Given the description of an element on the screen output the (x, y) to click on. 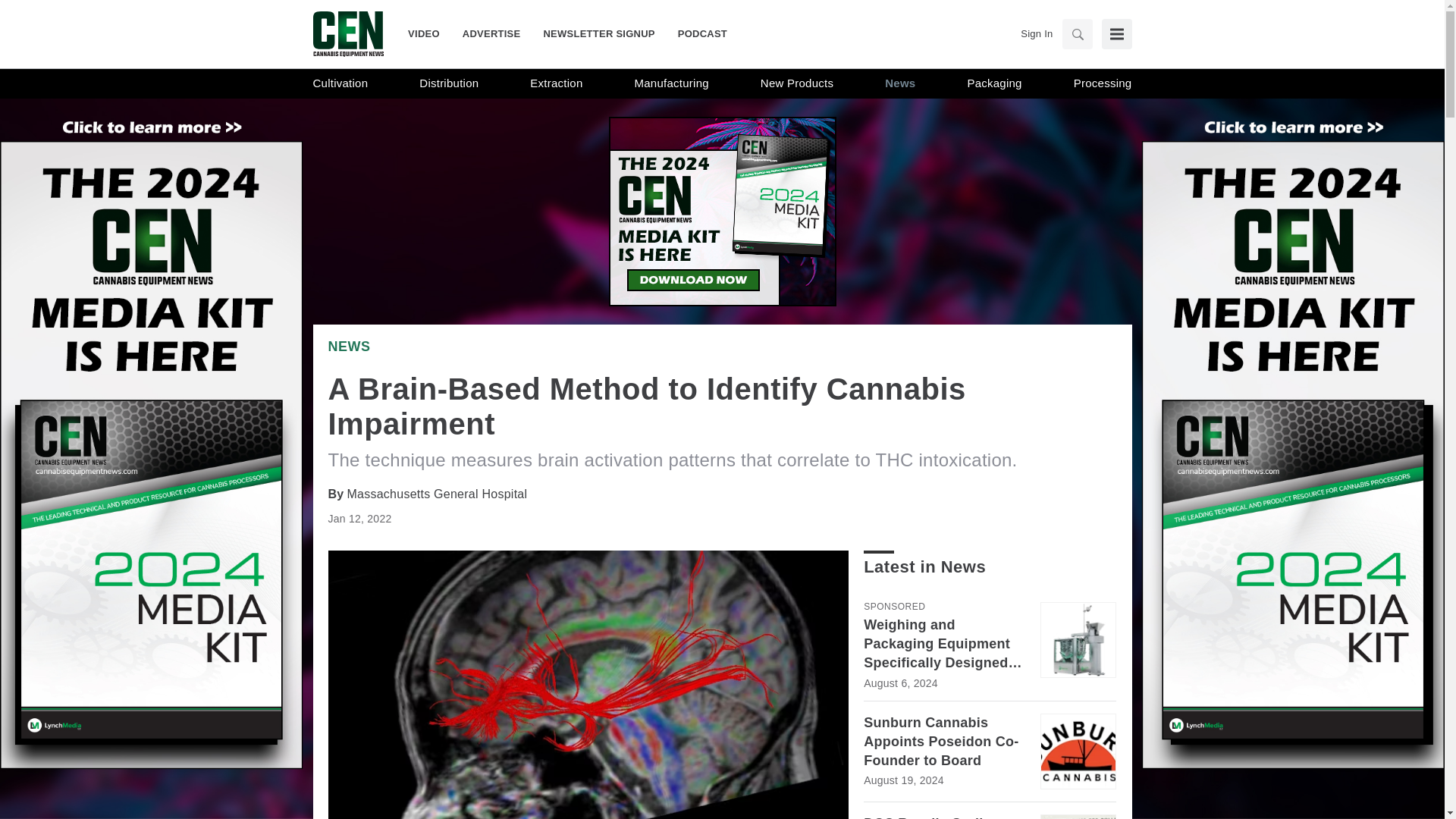
News (900, 83)
Cultivation (340, 83)
Extraction (555, 83)
Manufacturing (671, 83)
Sign In (1036, 33)
New Products (796, 83)
ADVERTISE (491, 33)
News (348, 346)
NEWSLETTER SIGNUP (598, 33)
